Given the description of an element on the screen output the (x, y) to click on. 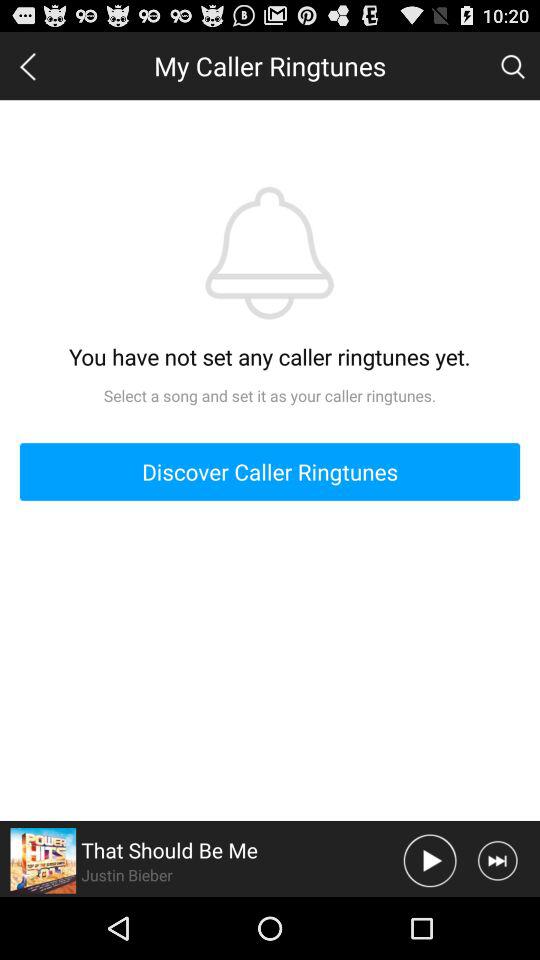
click album cover (43, 860)
